Given the description of an element on the screen output the (x, y) to click on. 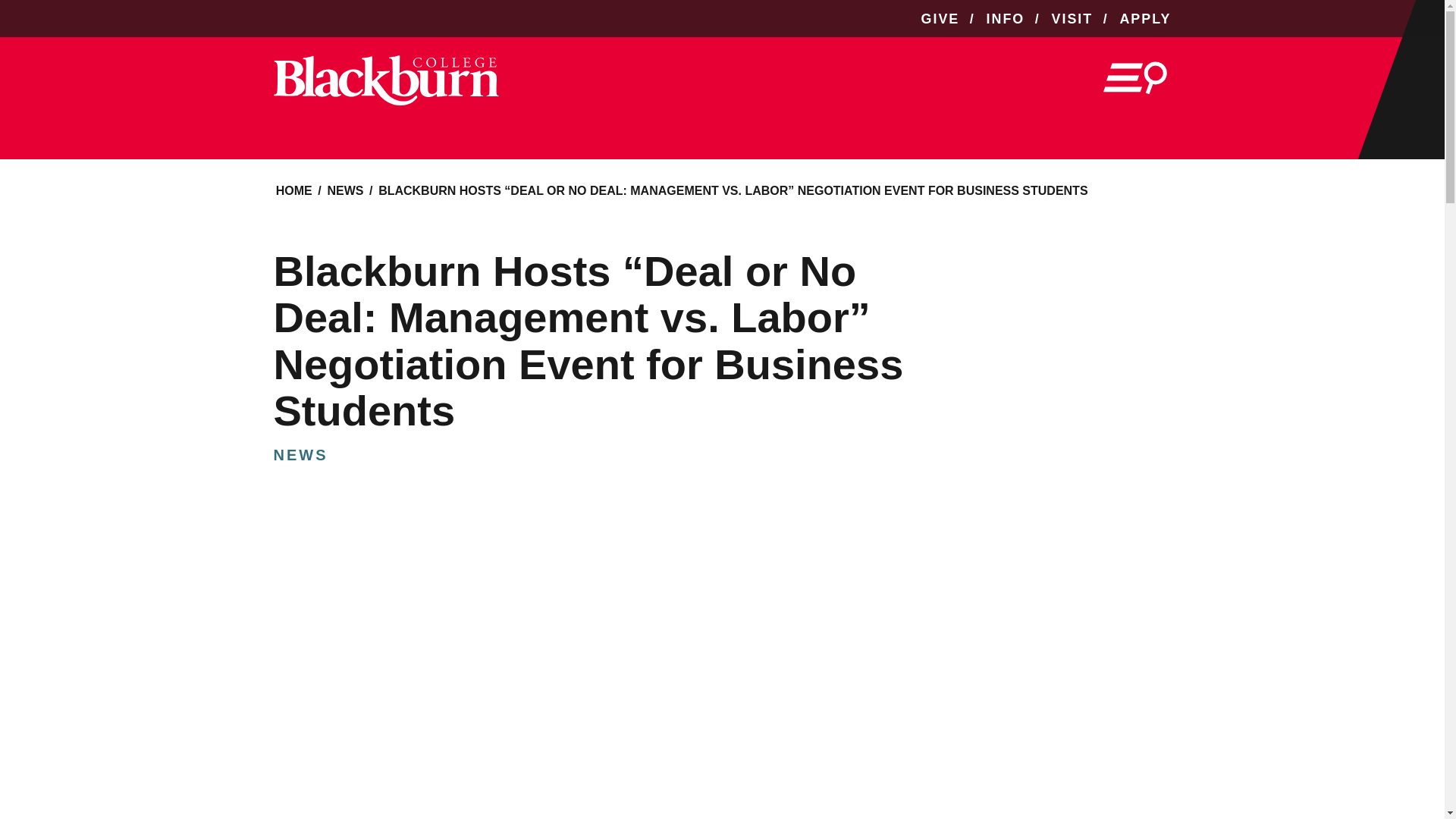
INFO (1005, 18)
News (344, 190)
GIVE (939, 18)
Home (293, 190)
APPLY (1139, 18)
VISIT (1072, 18)
